Given the description of an element on the screen output the (x, y) to click on. 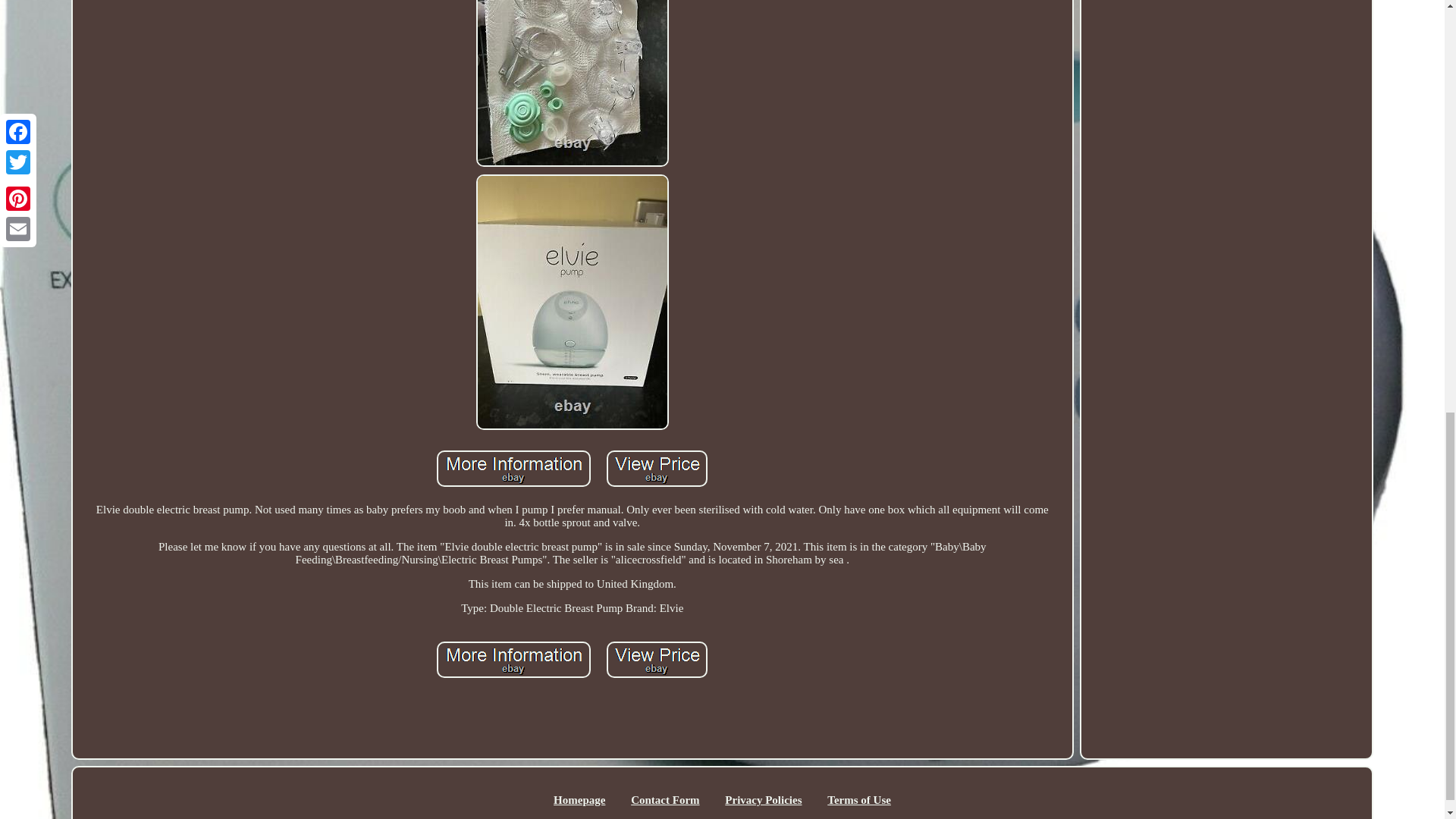
Elvie double electric breast pump (572, 83)
Elvie double electric breast pump (657, 659)
Elvie double electric breast pump (513, 659)
Elvie double electric breast pump (513, 468)
Elvie double electric breast pump (657, 468)
